Given the description of an element on the screen output the (x, y) to click on. 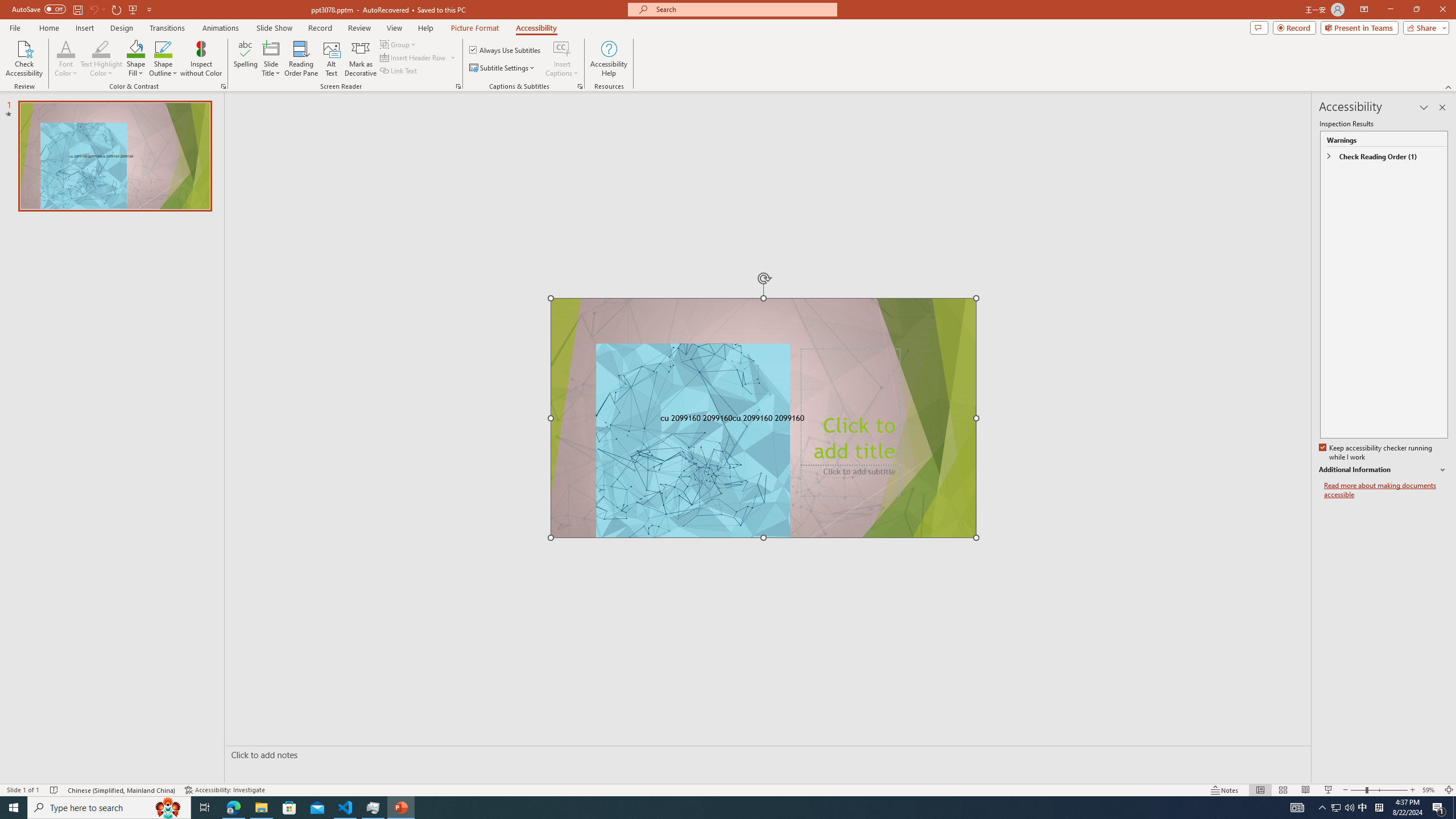
Slide Title (271, 58)
Spelling... (245, 58)
Captions & Subtitles (580, 85)
Shape Fill (135, 58)
Check Accessibility (23, 58)
Insert Captions (561, 58)
Picture Format (475, 28)
Mark as Decorative (360, 58)
